Given the description of an element on the screen output the (x, y) to click on. 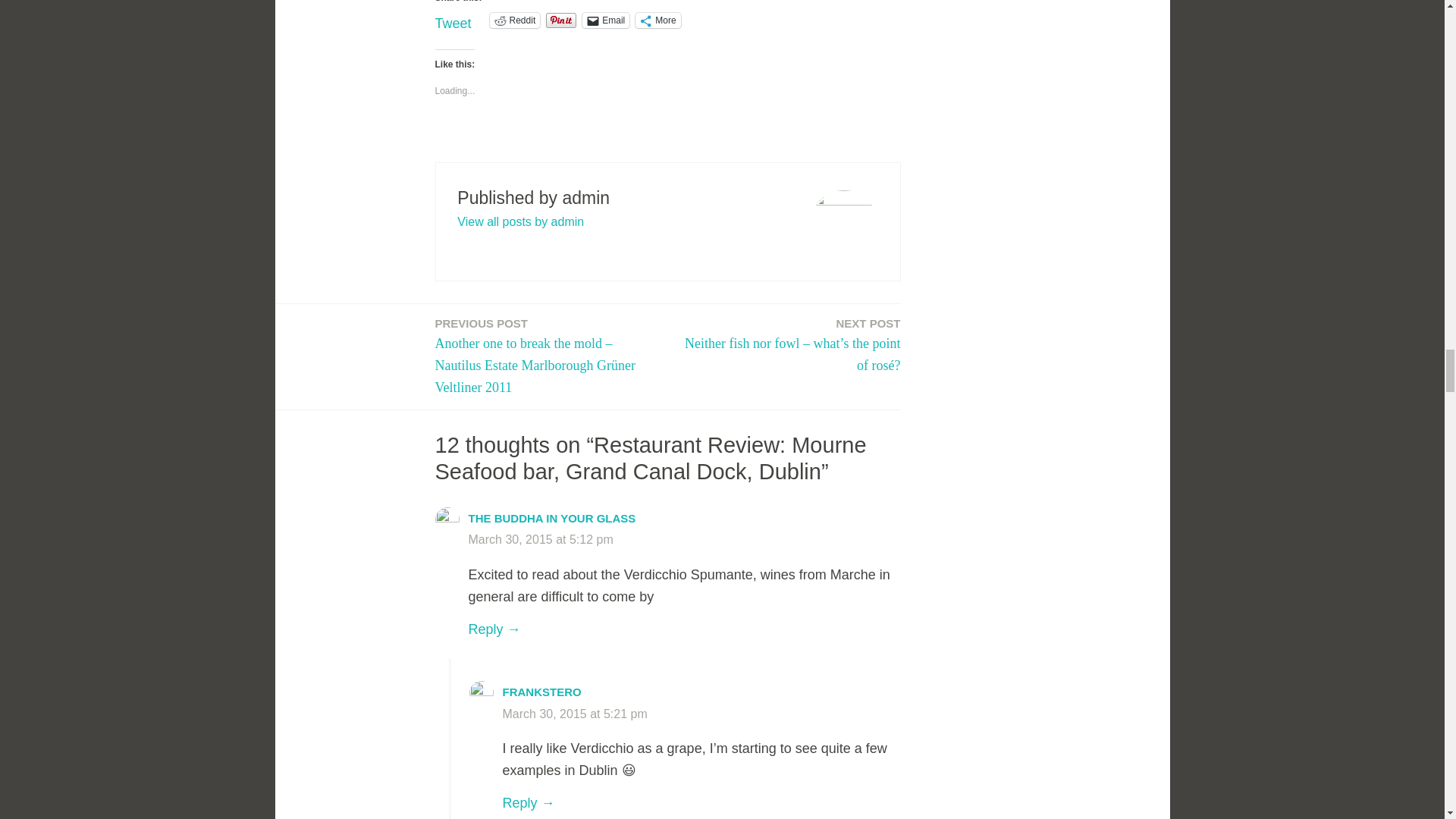
Tweet (453, 19)
Email (605, 20)
Click to share on Reddit (514, 20)
THE BUDDHA IN YOUR GLASS (552, 517)
More (656, 20)
View all posts by admin (520, 221)
Click to email a link to a friend (605, 20)
Reddit (514, 20)
